Given the description of an element on the screen output the (x, y) to click on. 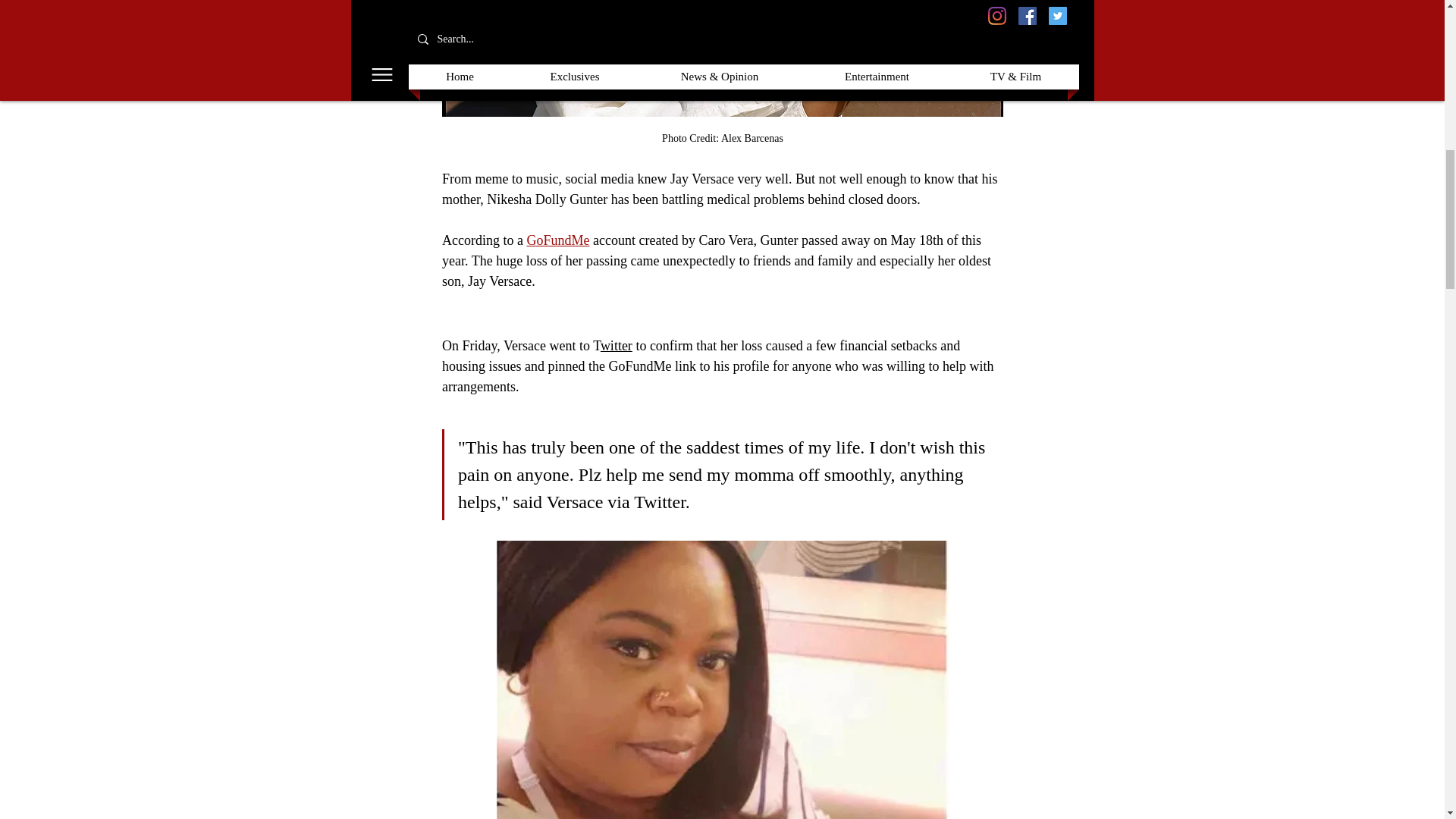
GoFundMe (557, 240)
witter (615, 345)
